Given the description of an element on the screen output the (x, y) to click on. 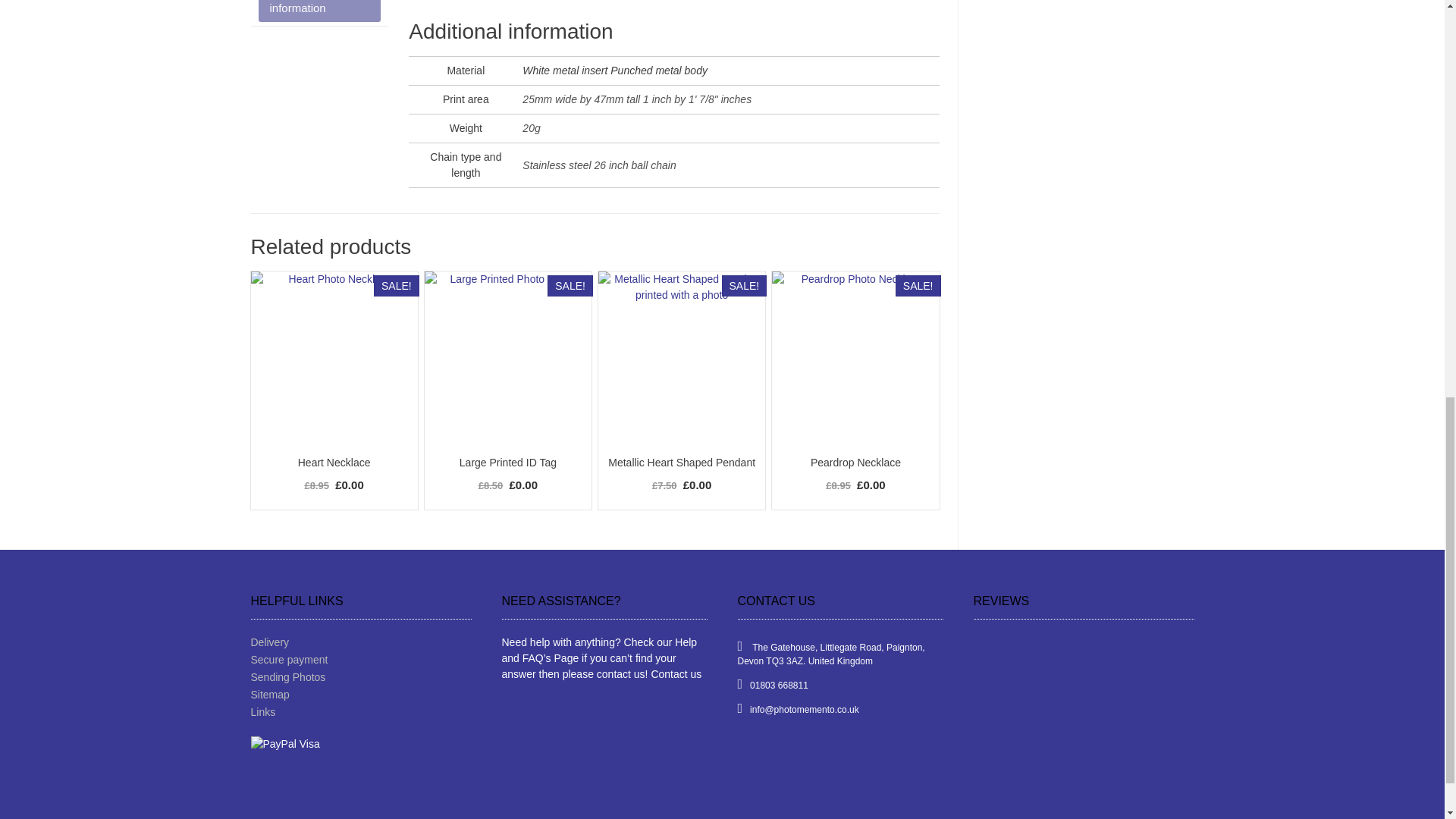
20g (531, 128)
Additional information (318, 11)
Stainless steel 26 inch ball chain (598, 164)
